Given the description of an element on the screen output the (x, y) to click on. 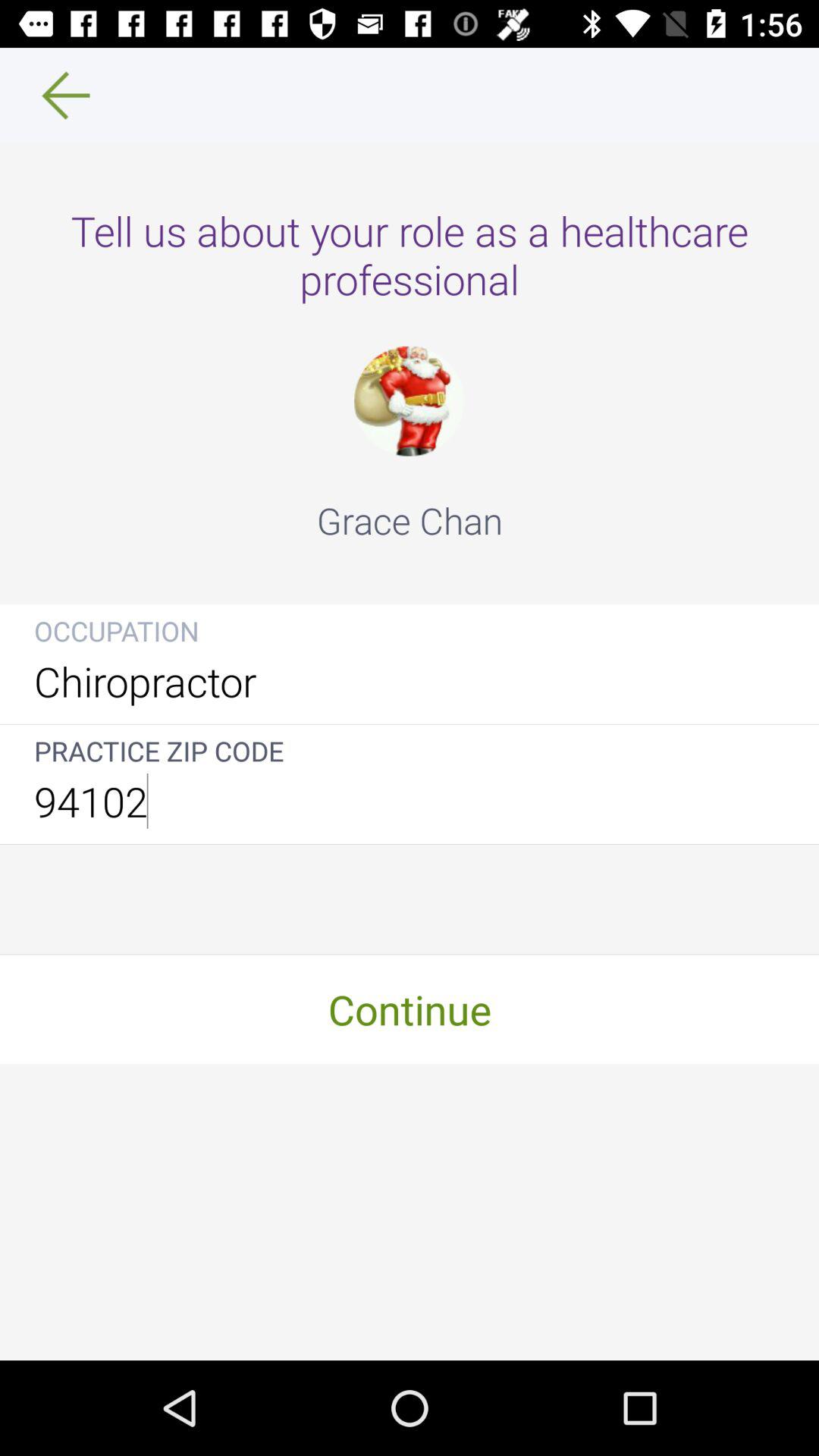
click continue item (409, 1009)
